Given the description of an element on the screen output the (x, y) to click on. 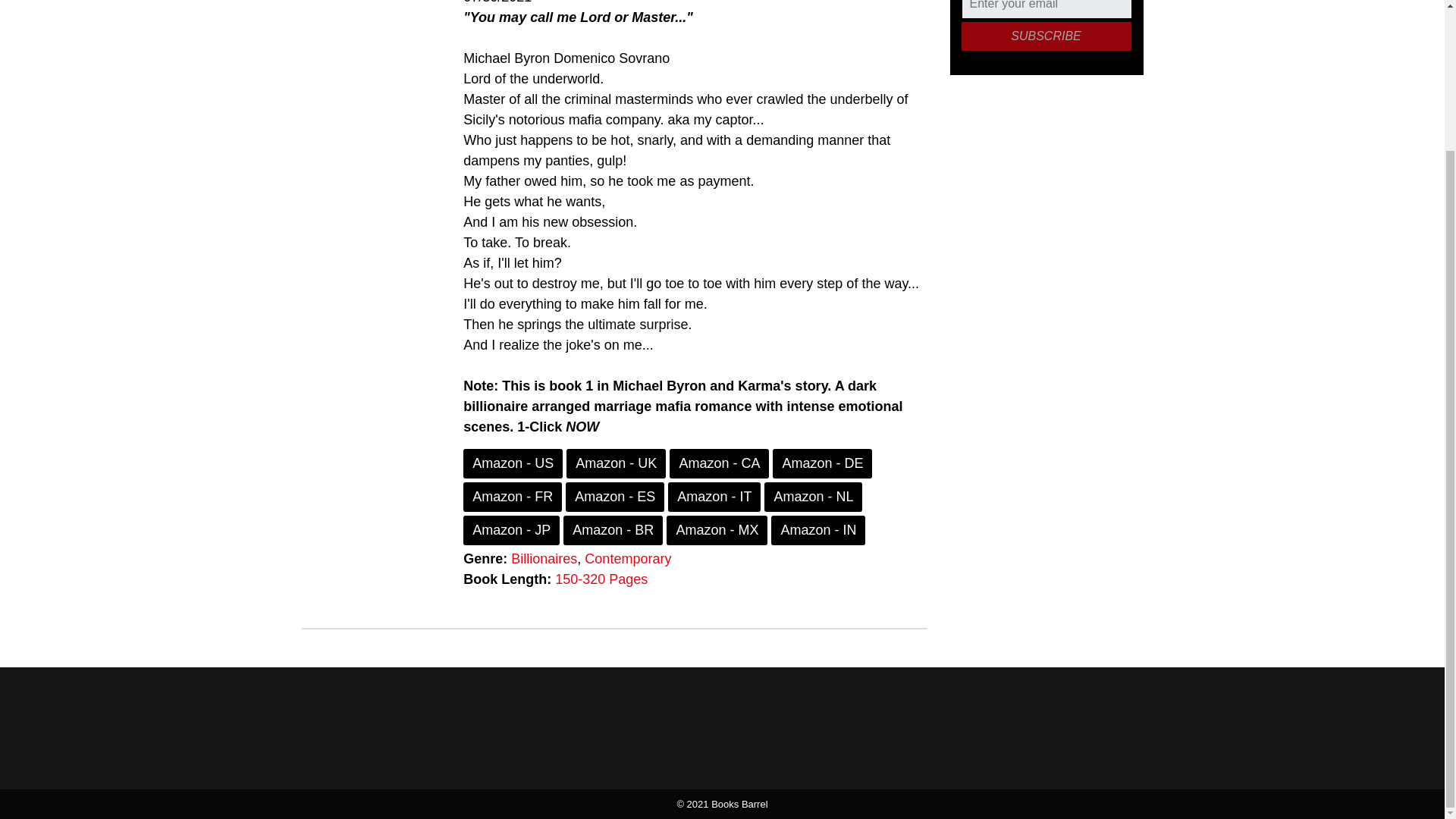
Amazon - FR (512, 496)
Amazon - CA (718, 463)
Amazon - UK (615, 463)
Subscribe (1045, 36)
Amazon - ES (614, 496)
Amazon - BR (612, 530)
Amazon - MX (716, 530)
Amazon - US (512, 463)
Amazon - JP (511, 530)
Contemporary (628, 558)
150-320 Pages (600, 579)
Billionaires (543, 558)
Amazon - NL (812, 496)
Amazon - IT (714, 496)
Amazon - DE (822, 463)
